Given the description of an element on the screen output the (x, y) to click on. 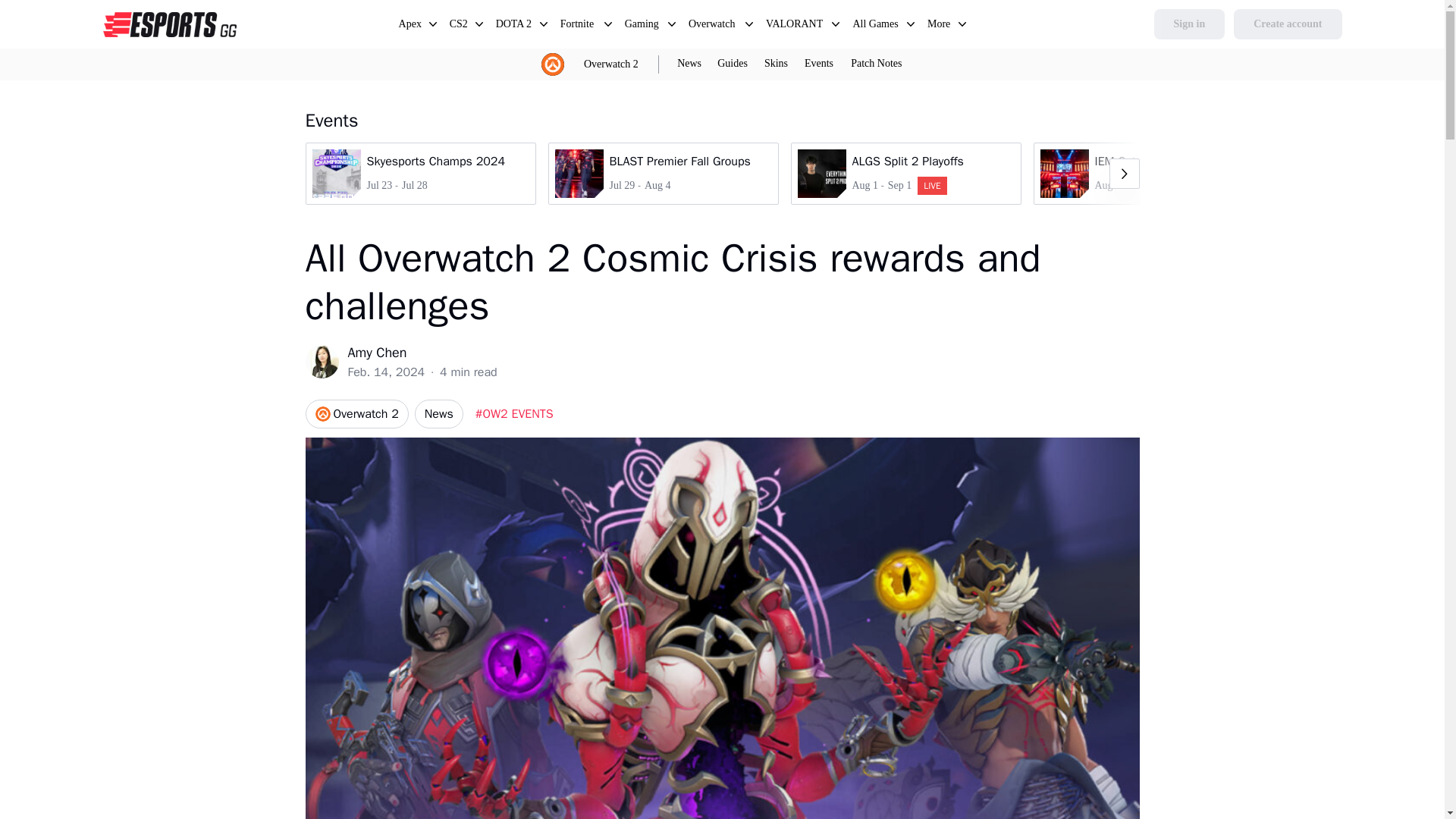
Patch Notes (875, 64)
Apex (410, 25)
Guides (1147, 173)
Patch Notes (732, 64)
Fortnite (875, 64)
Create account (578, 25)
CS2 (1286, 24)
Overwatch (905, 173)
